Given the description of an element on the screen output the (x, y) to click on. 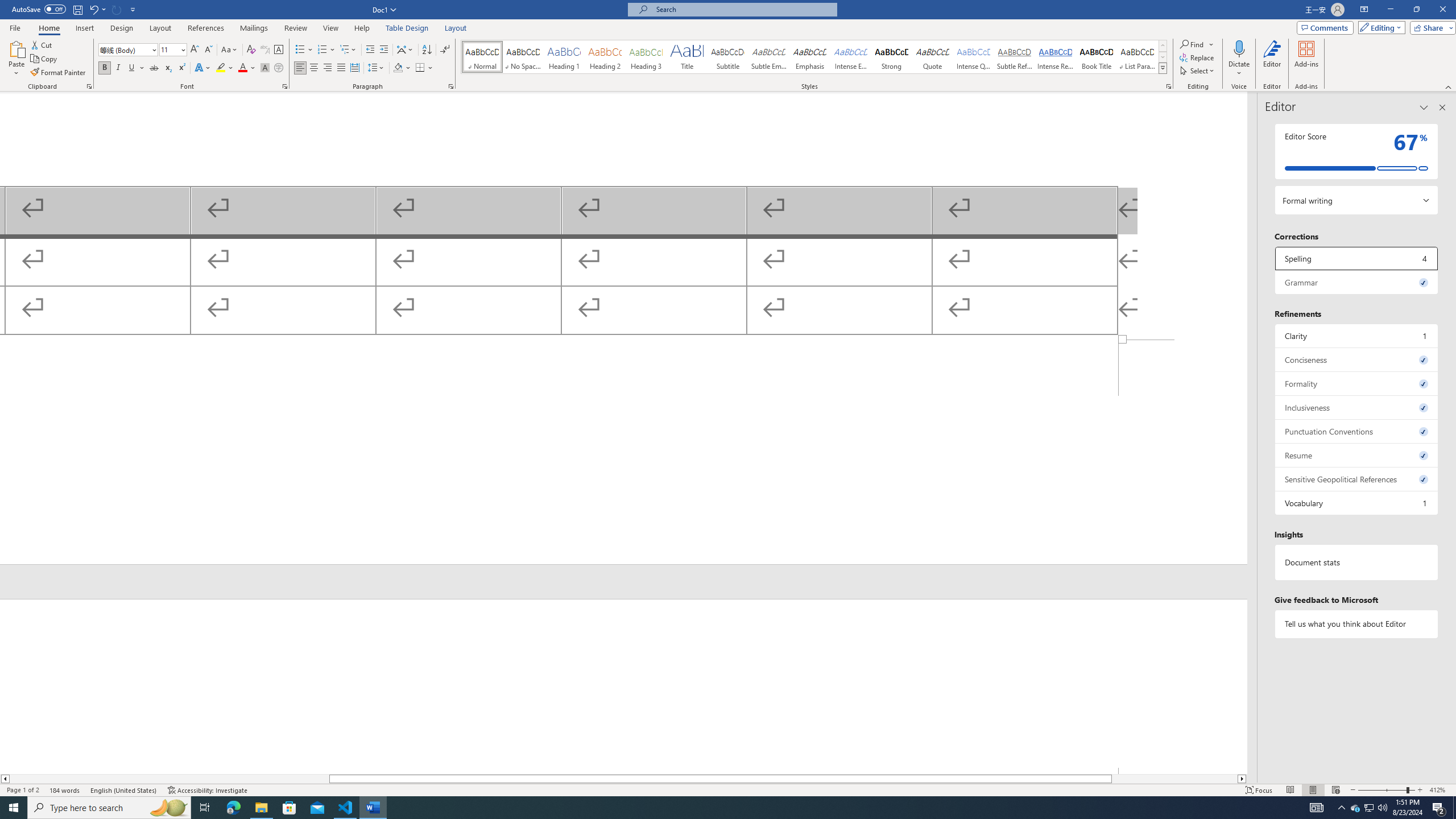
Asian Layout (405, 49)
Enclose Characters... (278, 67)
Undo Outline Move Up (96, 9)
Undo Outline Move Up (92, 9)
Emphasis (809, 56)
Row up (1162, 45)
Strong (891, 56)
Table Design (407, 28)
Grow Font (193, 49)
Subtitle (727, 56)
